Given the description of an element on the screen output the (x, y) to click on. 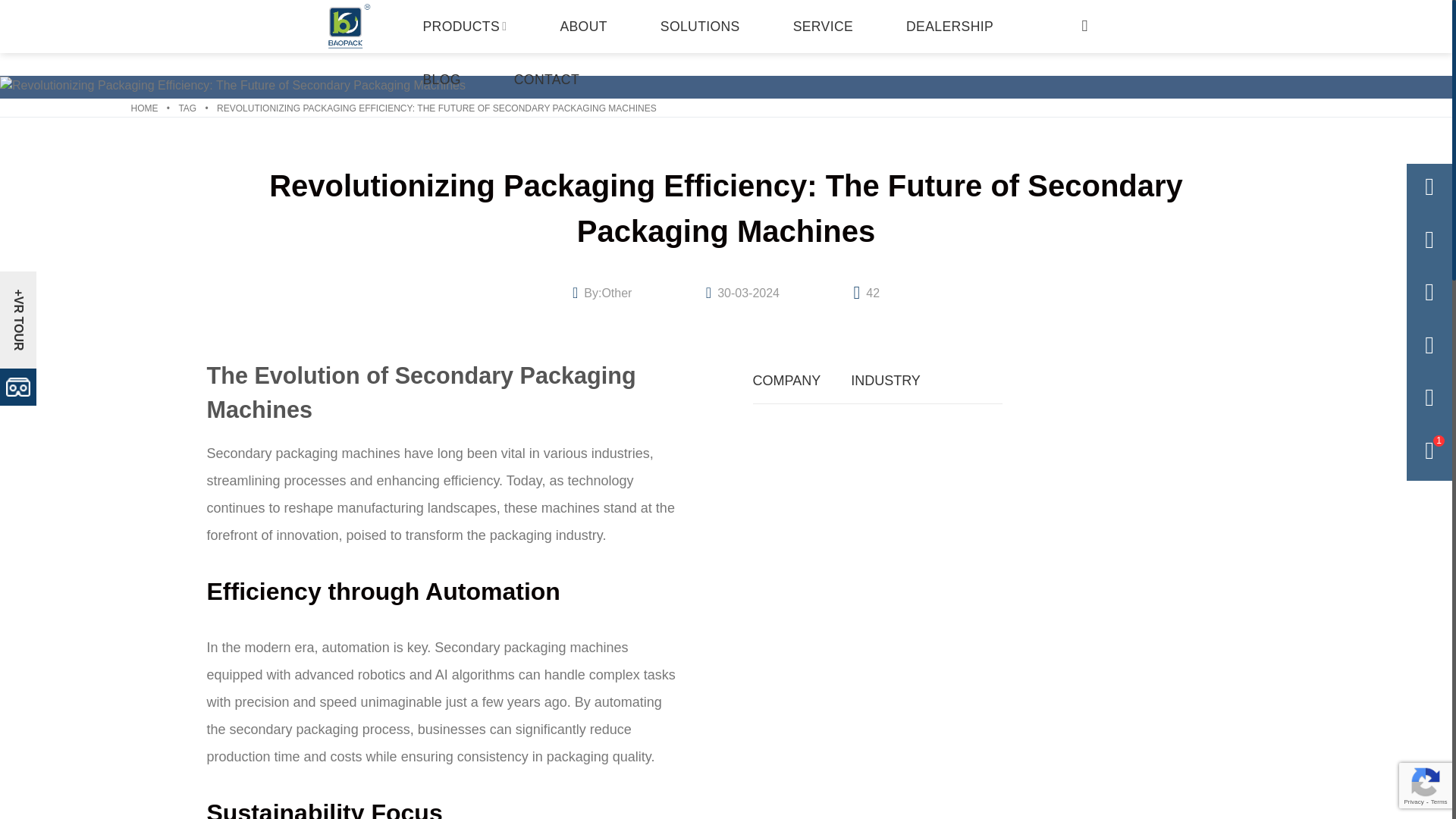
Tag (186, 108)
TAG (186, 108)
COMPANY (786, 381)
ABOUT (582, 26)
CONTACT (546, 79)
BLOG (441, 79)
SERVICE (823, 26)
Secondary packaging machines (302, 453)
Home (144, 108)
Secondary packaging machines (530, 647)
SOLUTIONS (700, 26)
DEALERSHIP (949, 26)
PRODUCTS (464, 26)
HOME (144, 108)
INDUSTRY (885, 381)
